Given the description of an element on the screen output the (x, y) to click on. 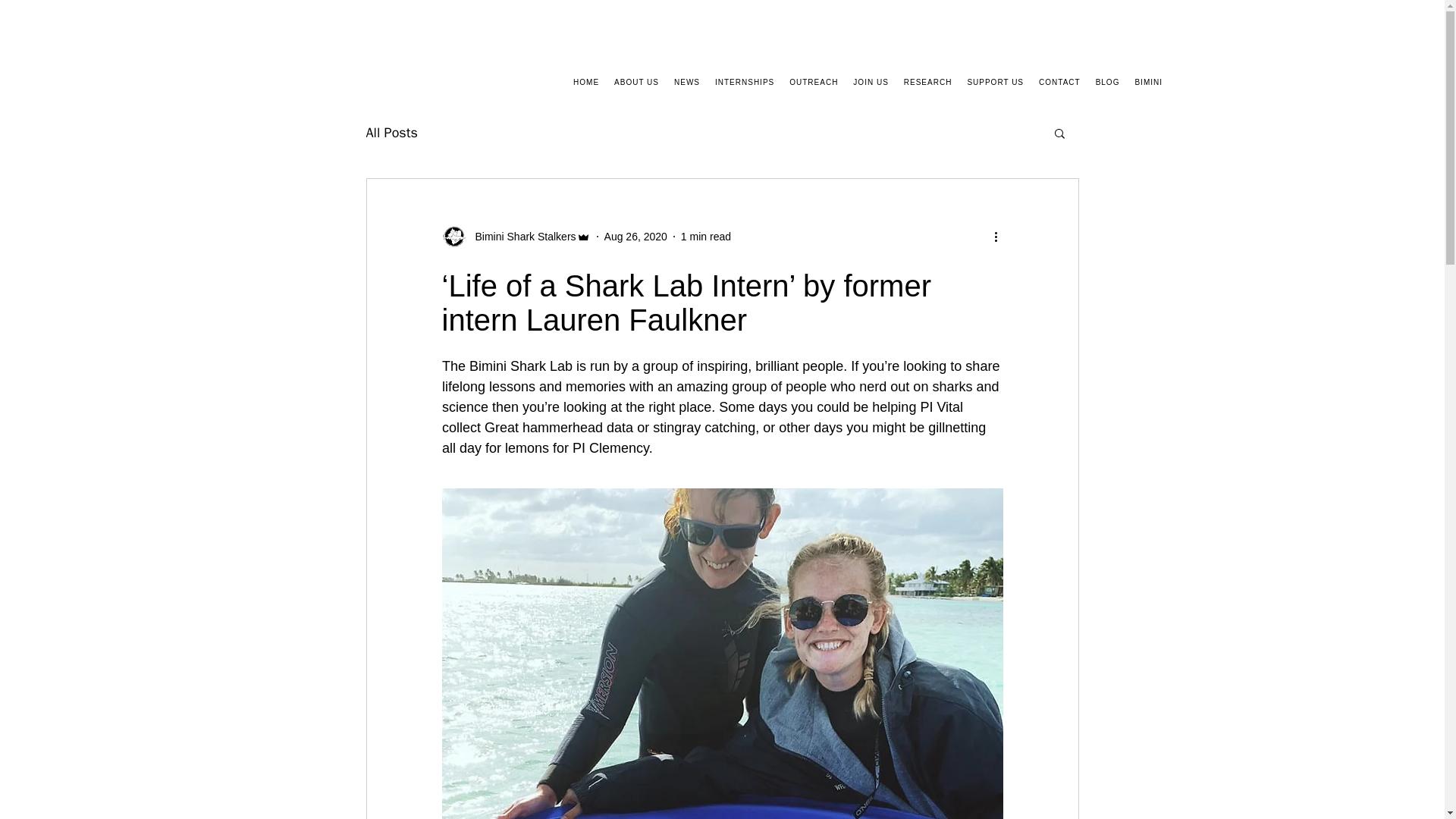
Aug 26, 2020 (635, 236)
Bimini Shark Stalkers (520, 236)
1 min read (705, 236)
OUTREACH (813, 81)
NEWS (687, 81)
HOME (585, 81)
